Given the description of an element on the screen output the (x, y) to click on. 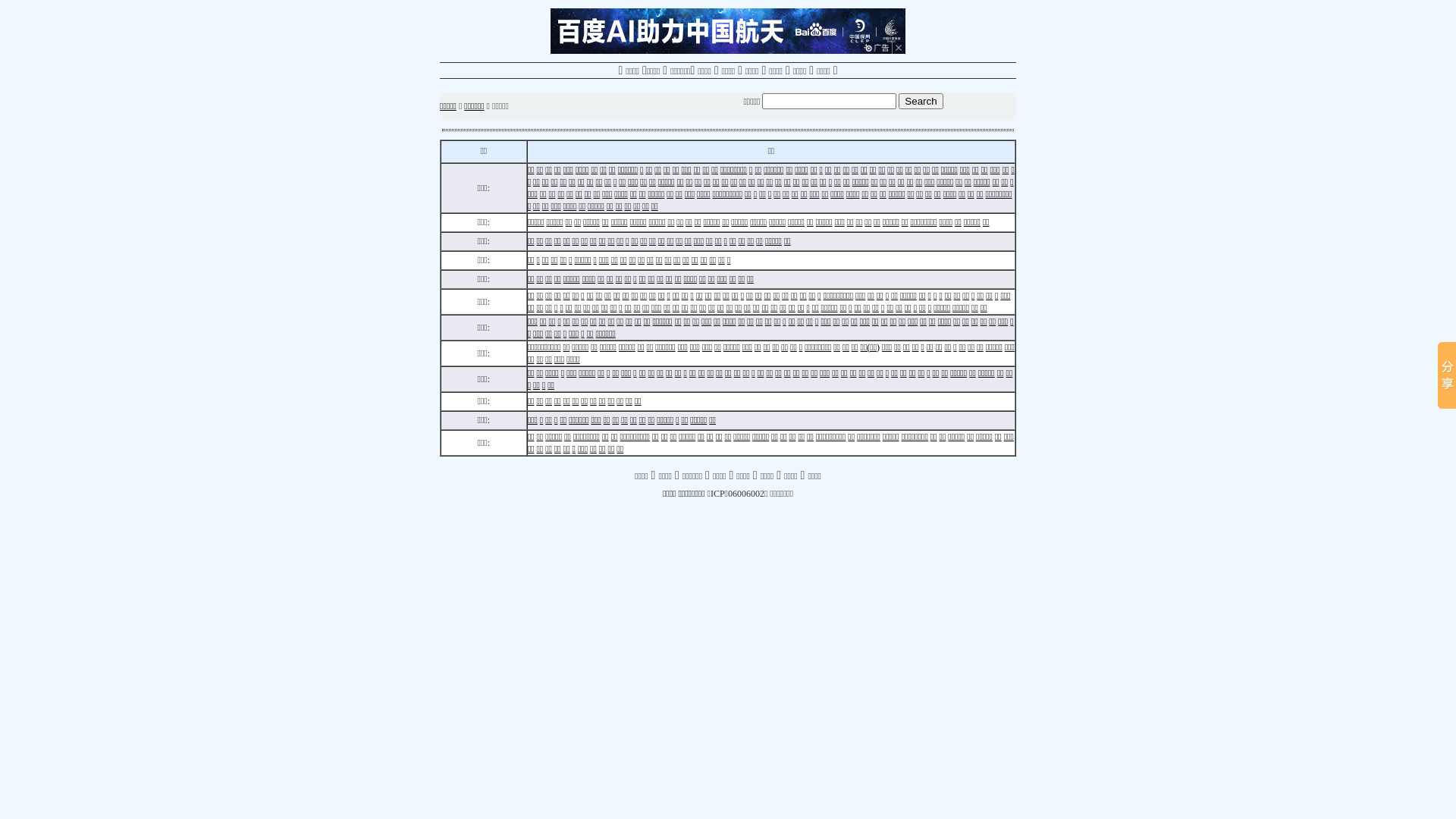
Search Element type: text (920, 100)
